Given the description of an element on the screen output the (x, y) to click on. 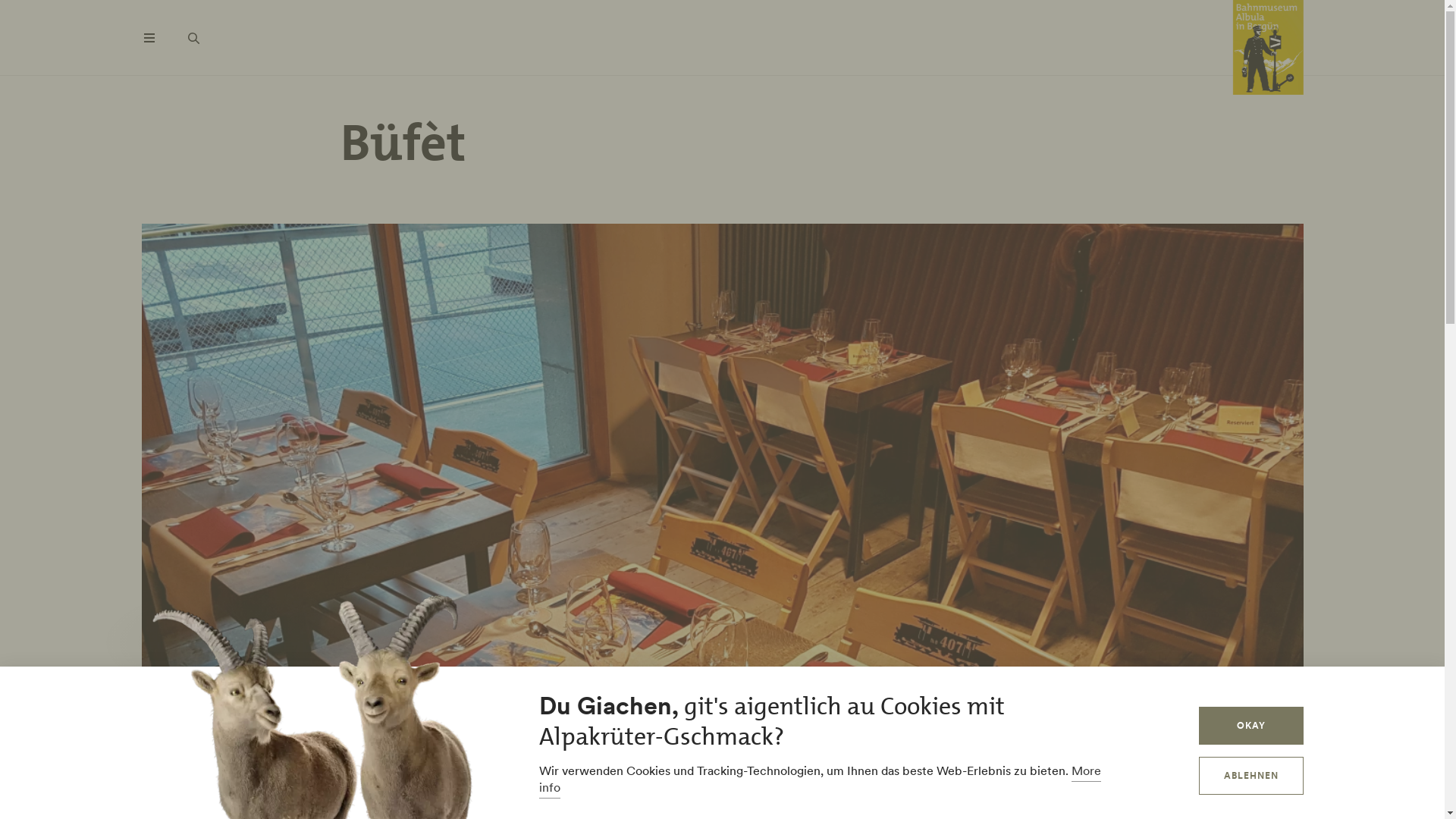
More info Element type: text (819, 780)
ABLEHNEN Element type: text (1250, 775)
Home Element type: hover (1268, 48)
OKAY Element type: text (1250, 725)
